Given the description of an element on the screen output the (x, y) to click on. 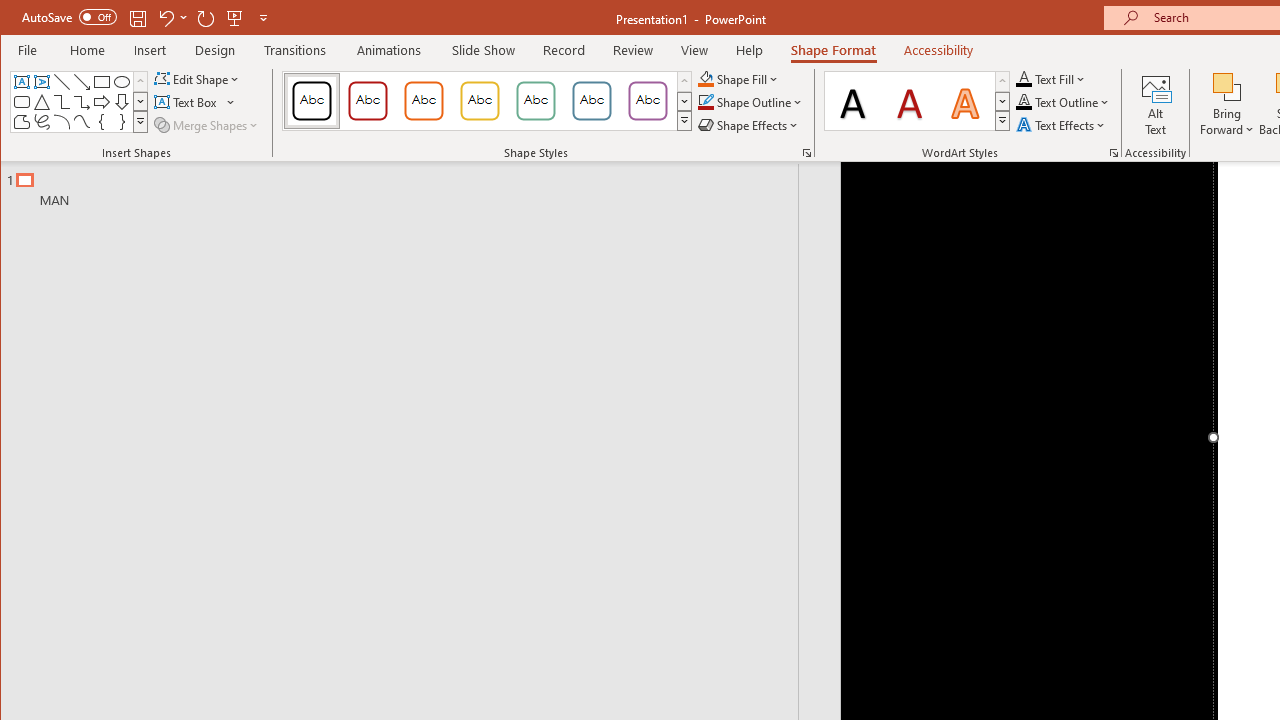
Bring Forward (1227, 104)
AutomationID: ShapeStylesGallery (488, 101)
Edit Shape (198, 78)
Shape Fill Orange, Accent 2 (705, 78)
Shape Format (833, 50)
Fill: Black, Text color 1; Shadow (853, 100)
Draw Horizontal Text Box (187, 101)
Colored Outline - Gold, Accent 3 (479, 100)
